Given the description of an element on the screen output the (x, y) to click on. 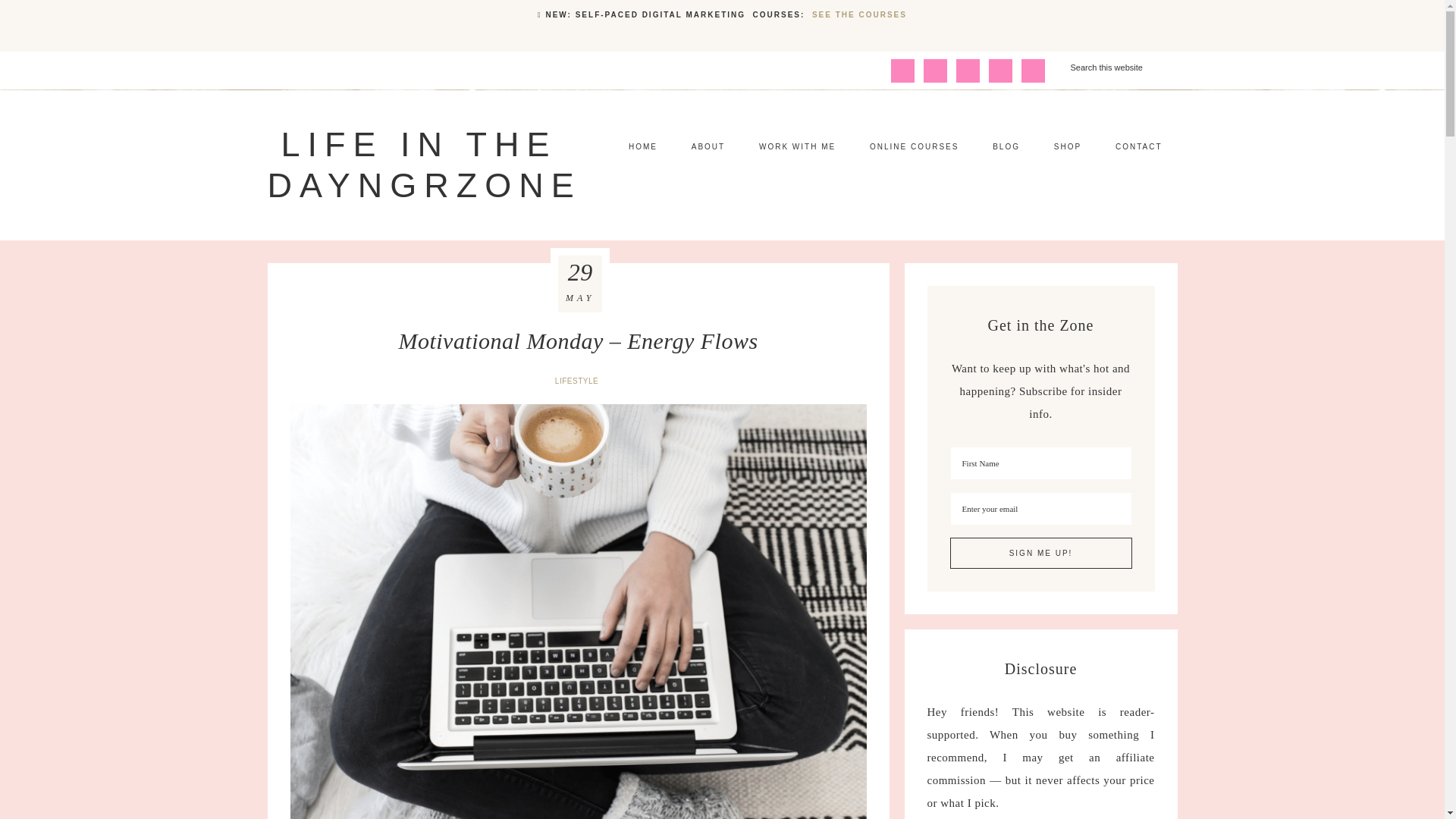
WORK WITH ME (797, 146)
HOME (642, 146)
ONLINE COURSES (914, 146)
LIFESTYLE (577, 380)
SHOP (1067, 146)
CONTACT (1138, 146)
Sign me up! (1040, 552)
LIFE IN THE DAYNGRZONE (423, 164)
BLOG (1005, 146)
SEE THE COURSES (859, 14)
ABOUT (708, 146)
